Given the description of an element on the screen output the (x, y) to click on. 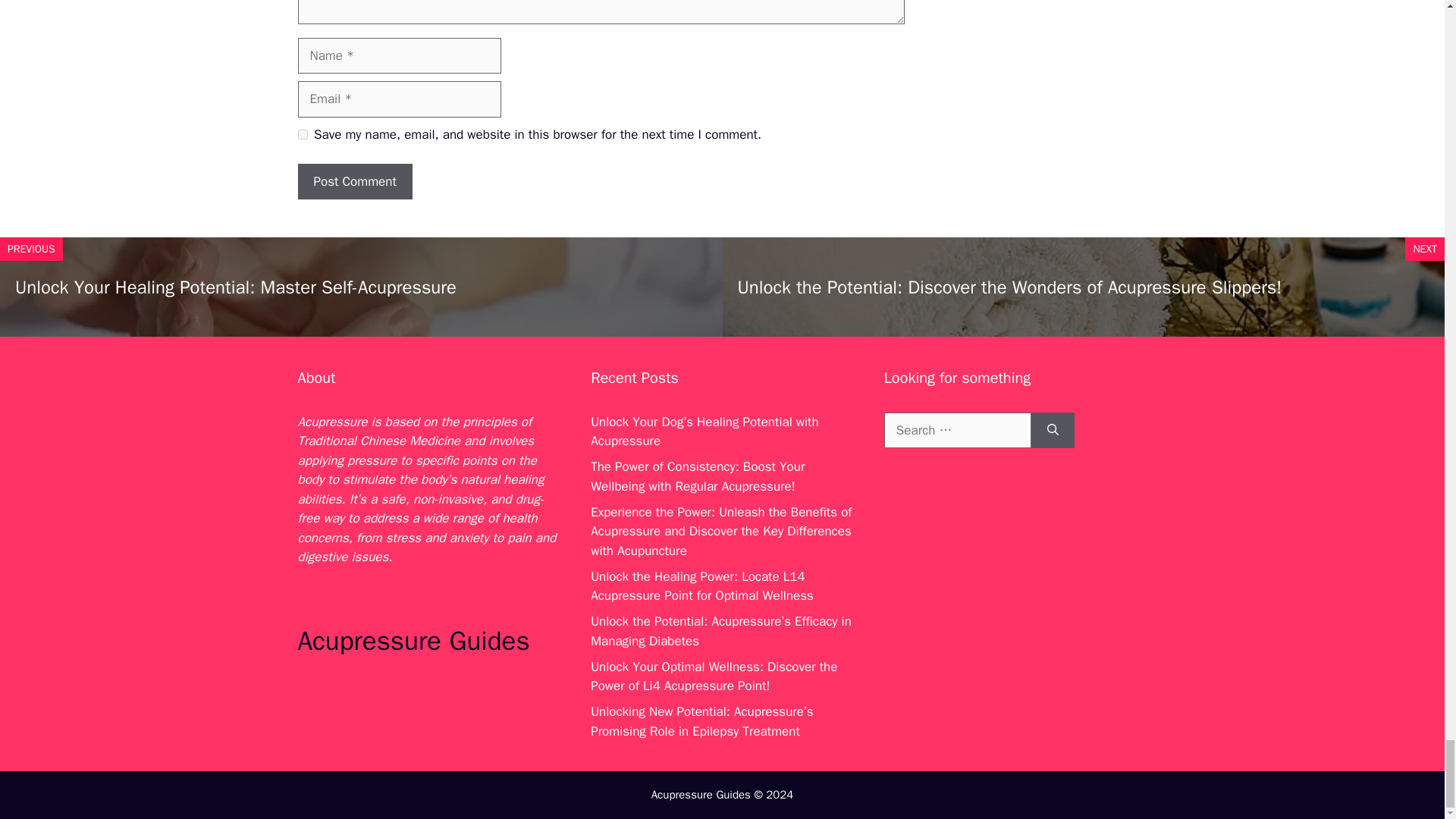
Unlock Your Healing Potential: Master Self-Acupressure (235, 287)
Post Comment (354, 181)
Search for: (956, 430)
yes (302, 134)
Post Comment (354, 181)
